Given the description of an element on the screen output the (x, y) to click on. 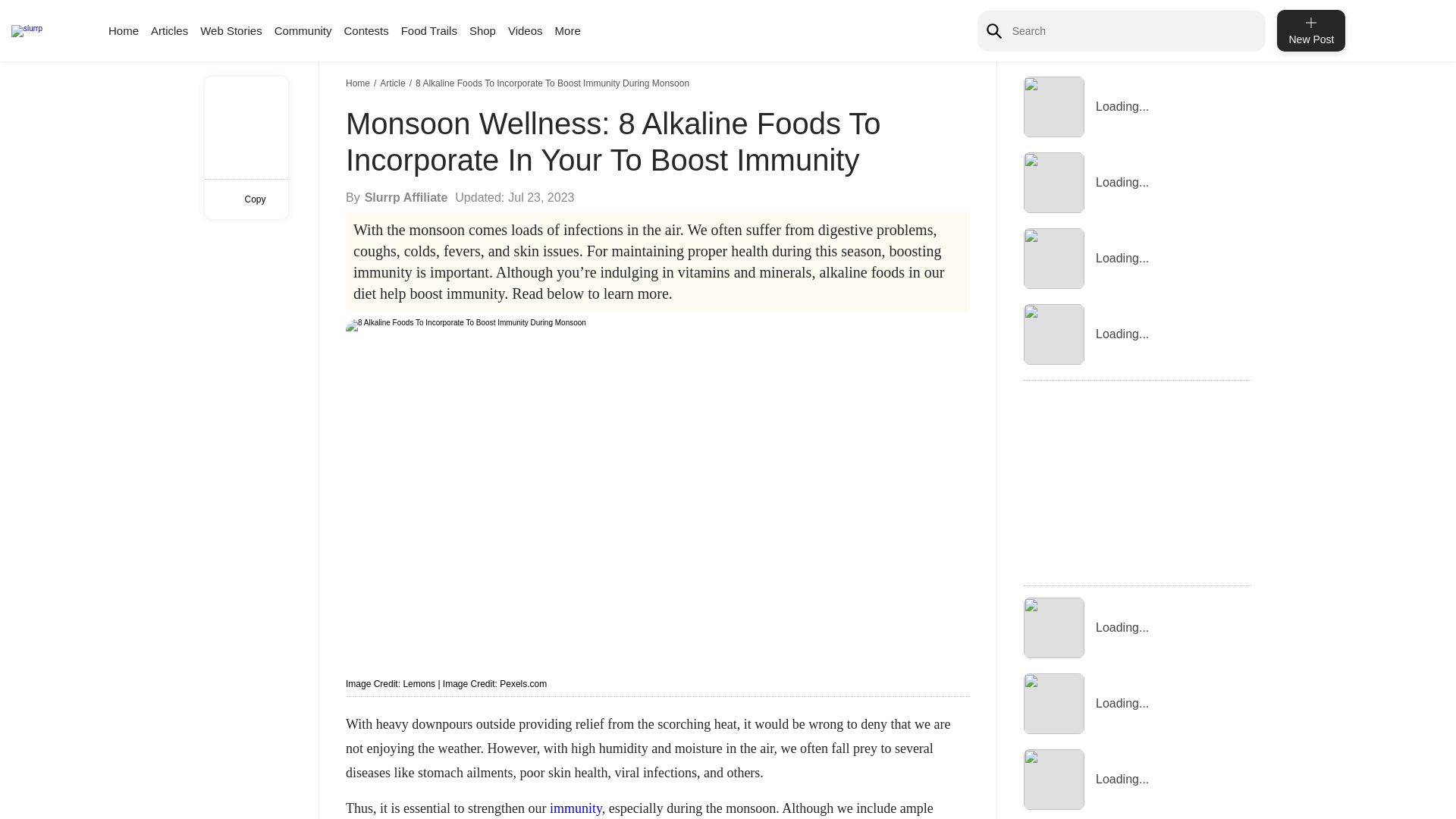
Food Trails (429, 30)
Contests (365, 30)
New Post (1310, 30)
Videos (525, 30)
Article (394, 82)
Community (303, 30)
Home (122, 30)
Web Stories (231, 30)
Home (360, 82)
Shop (482, 30)
Articles (169, 30)
